Given the description of an element on the screen output the (x, y) to click on. 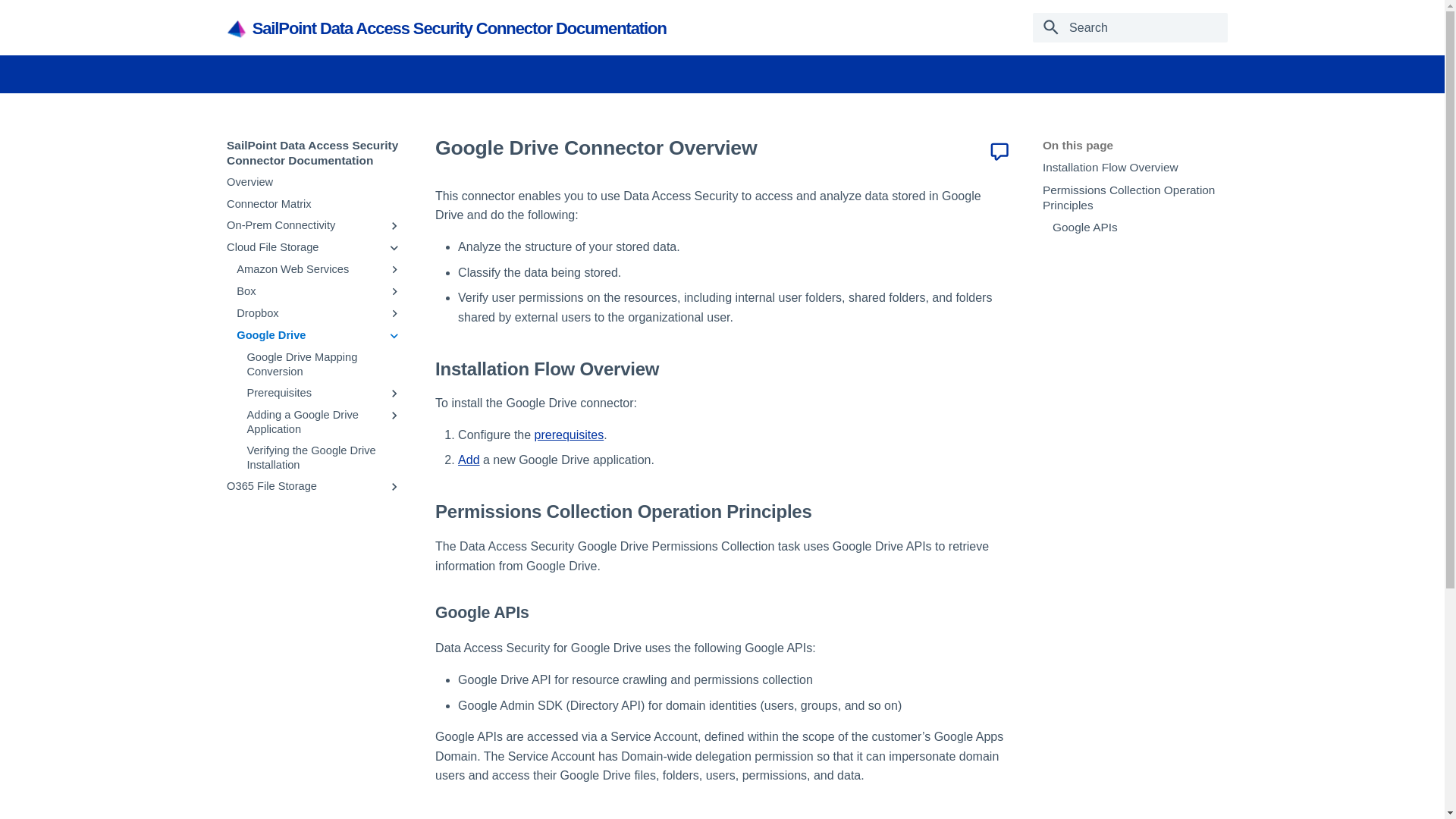
SailPoint Product Documentation (237, 28)
Cloud File Storage (303, 247)
Dropbox (307, 313)
Leave feedback (999, 151)
On-Prem Connectivity (303, 225)
Box (307, 291)
Overview (314, 182)
Connector Matrix (314, 204)
Amazon Web Services (307, 269)
